Given the description of an element on the screen output the (x, y) to click on. 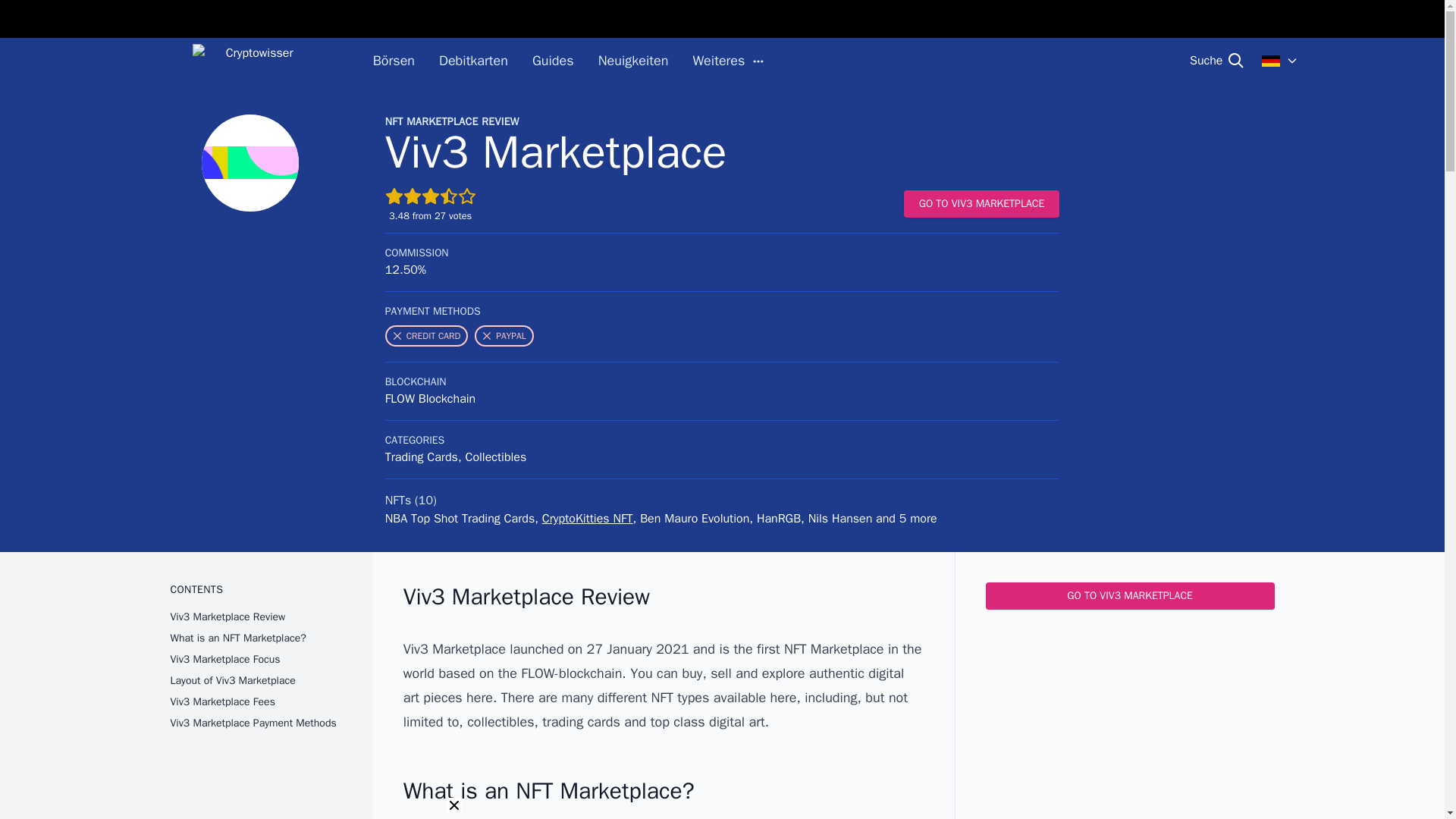
Neuigkeiten (633, 60)
Choose Language (1279, 60)
Suche (1216, 60)
Weiteres (727, 60)
Cryptowisser (253, 60)
Debitkarten (473, 60)
Guides (552, 60)
